Given the description of an element on the screen output the (x, y) to click on. 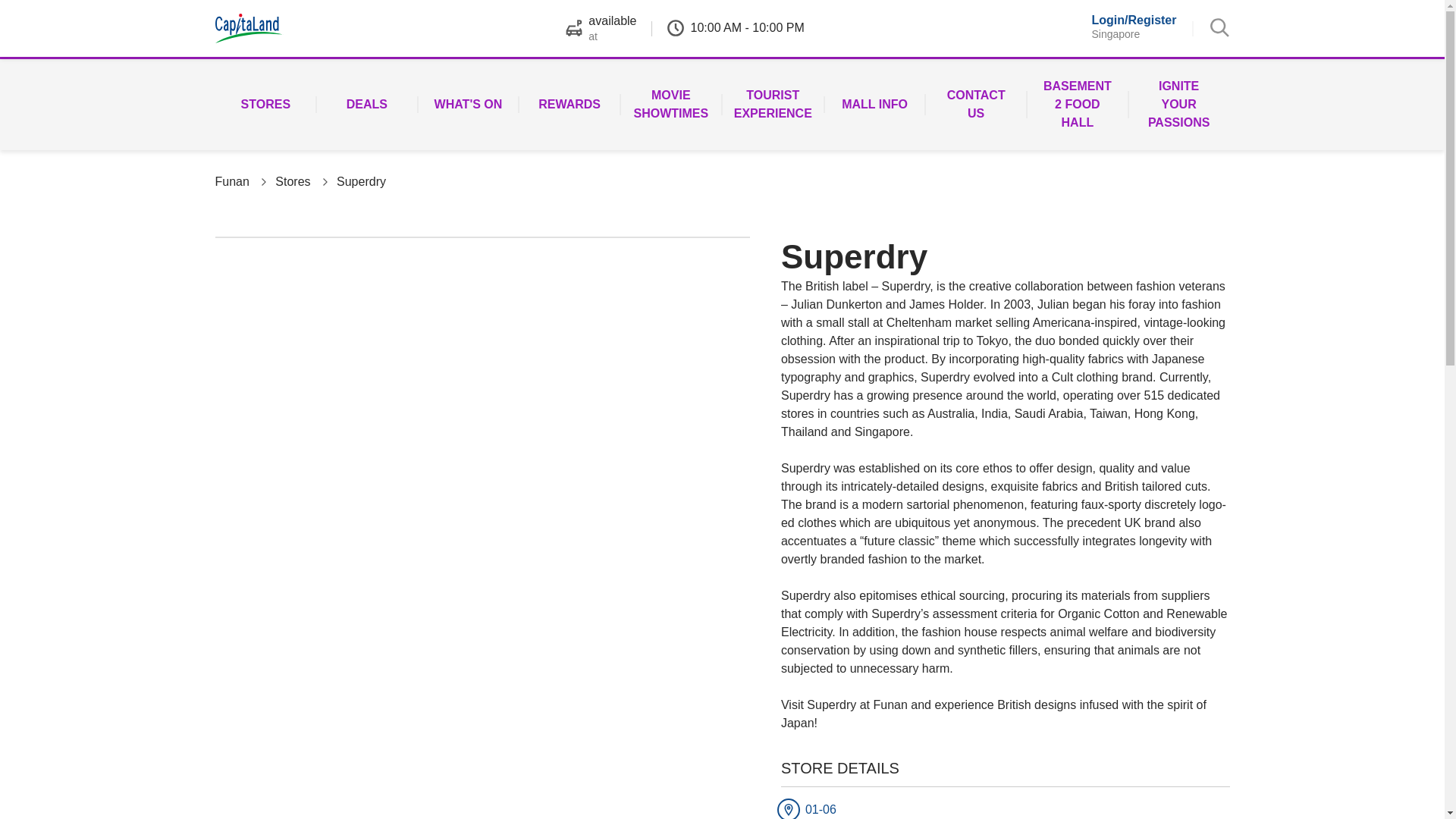
Toggle search (1218, 27)
MOVIE SHOWTIMES (671, 103)
BASEMENT 2 FOOD HALL (1077, 103)
REWARDS (569, 103)
STORES (266, 103)
01-06 (869, 809)
TOURIST EXPERIENCE (773, 103)
CONTACT US (975, 103)
WHAT'S ON (468, 103)
IGNITE YOUR PASSIONS (1179, 103)
